Given the description of an element on the screen output the (x, y) to click on. 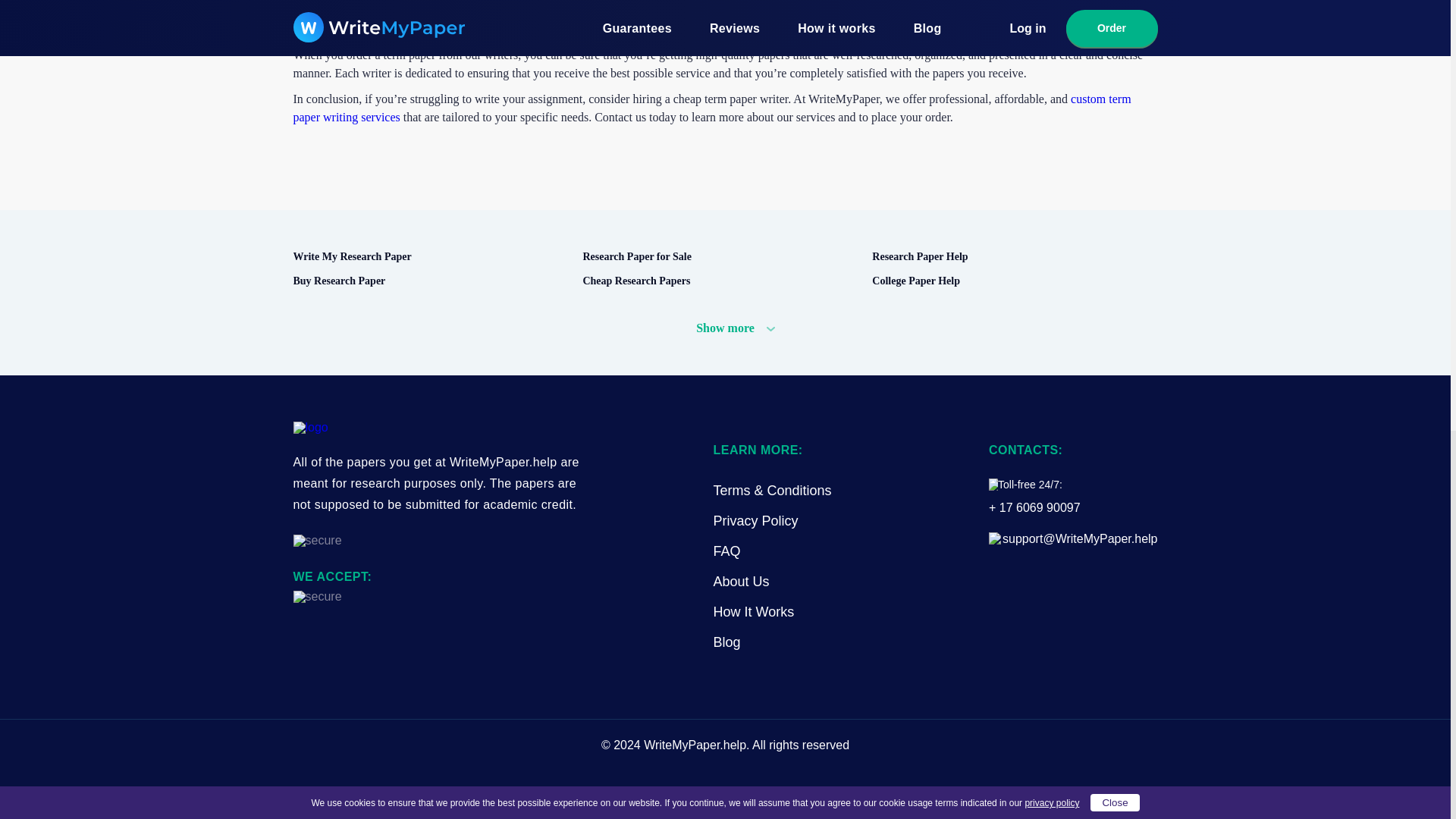
FAQ (726, 551)
Buy Research Paper (430, 280)
About Us (740, 581)
College Paper Help (1010, 280)
Research Paper for Sale (720, 257)
Research Paper Help (1010, 257)
Privacy Policy (755, 521)
Cheap Research Papers (720, 280)
custom term paper writing services (711, 107)
Write My Research Paper (430, 257)
How It Works (753, 612)
Blog (726, 642)
